Given the description of an element on the screen output the (x, y) to click on. 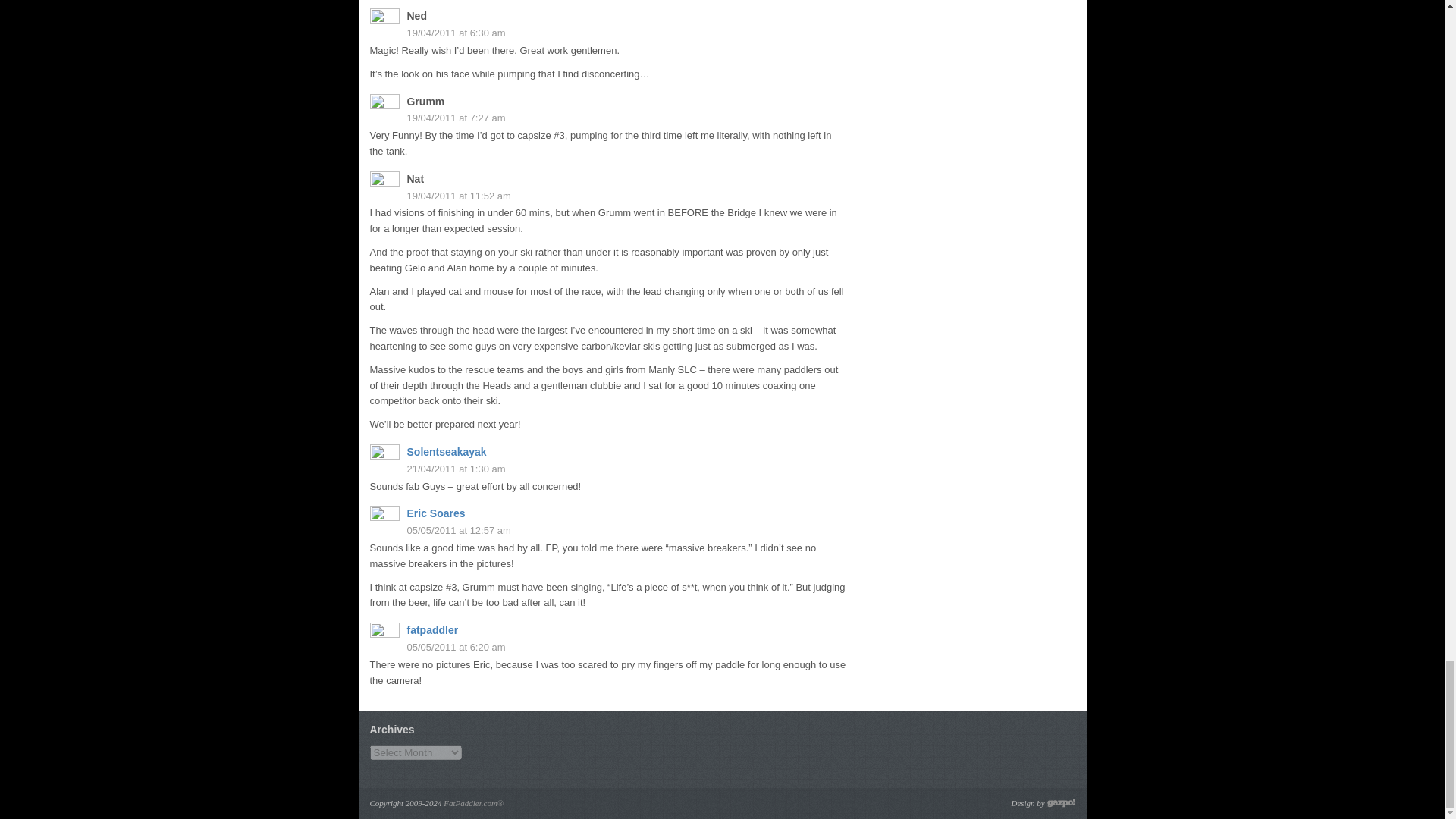
Solentseakayak (446, 451)
fatpaddler (432, 630)
Eric Soares (435, 512)
